Given the description of an element on the screen output the (x, y) to click on. 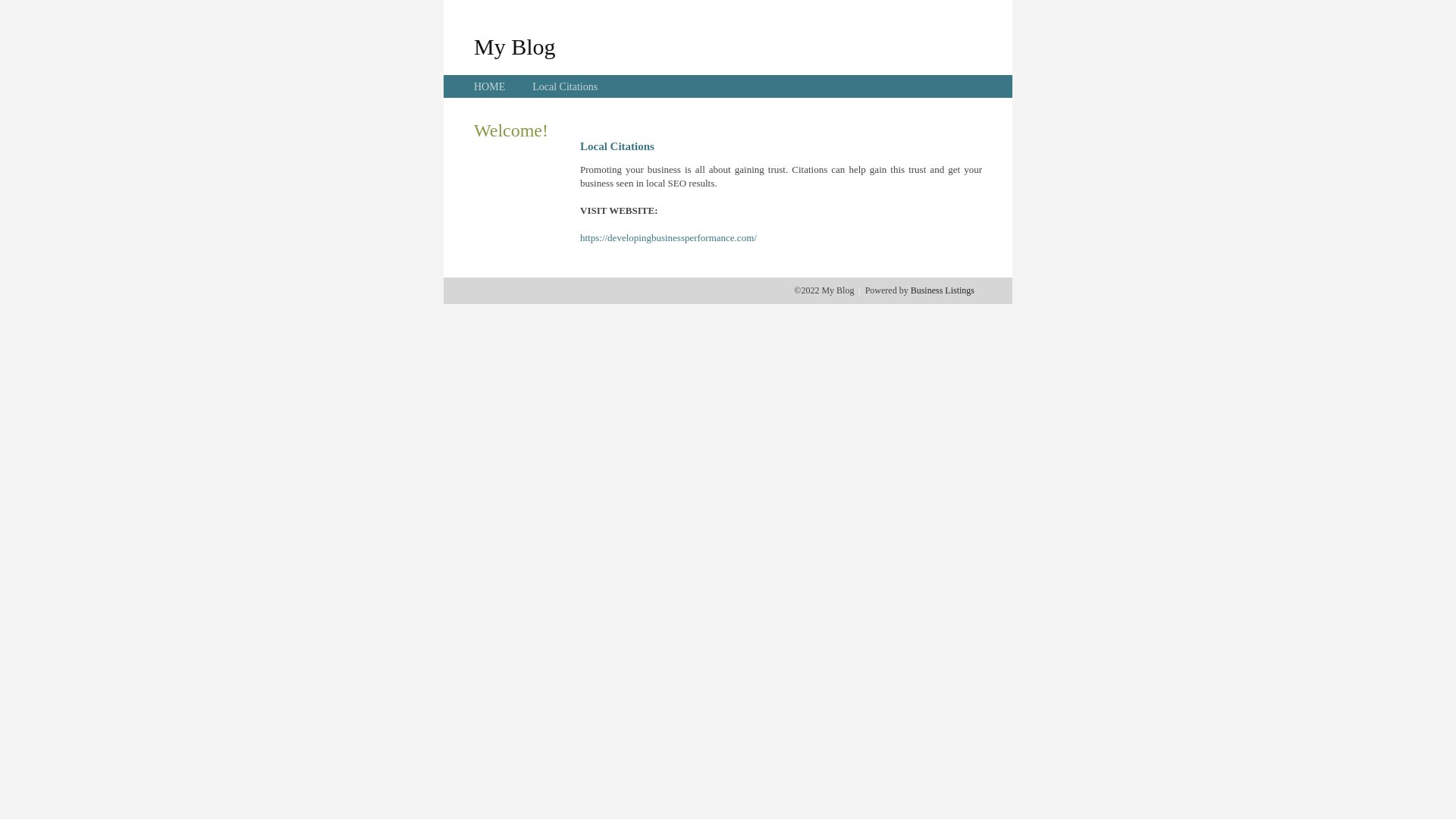
My Blog Element type: text (514, 46)
Local Citations Element type: text (564, 86)
HOME Element type: text (489, 86)
https://developingbusinessperformance.com/ Element type: text (668, 237)
Business Listings Element type: text (942, 290)
